Given the description of an element on the screen output the (x, y) to click on. 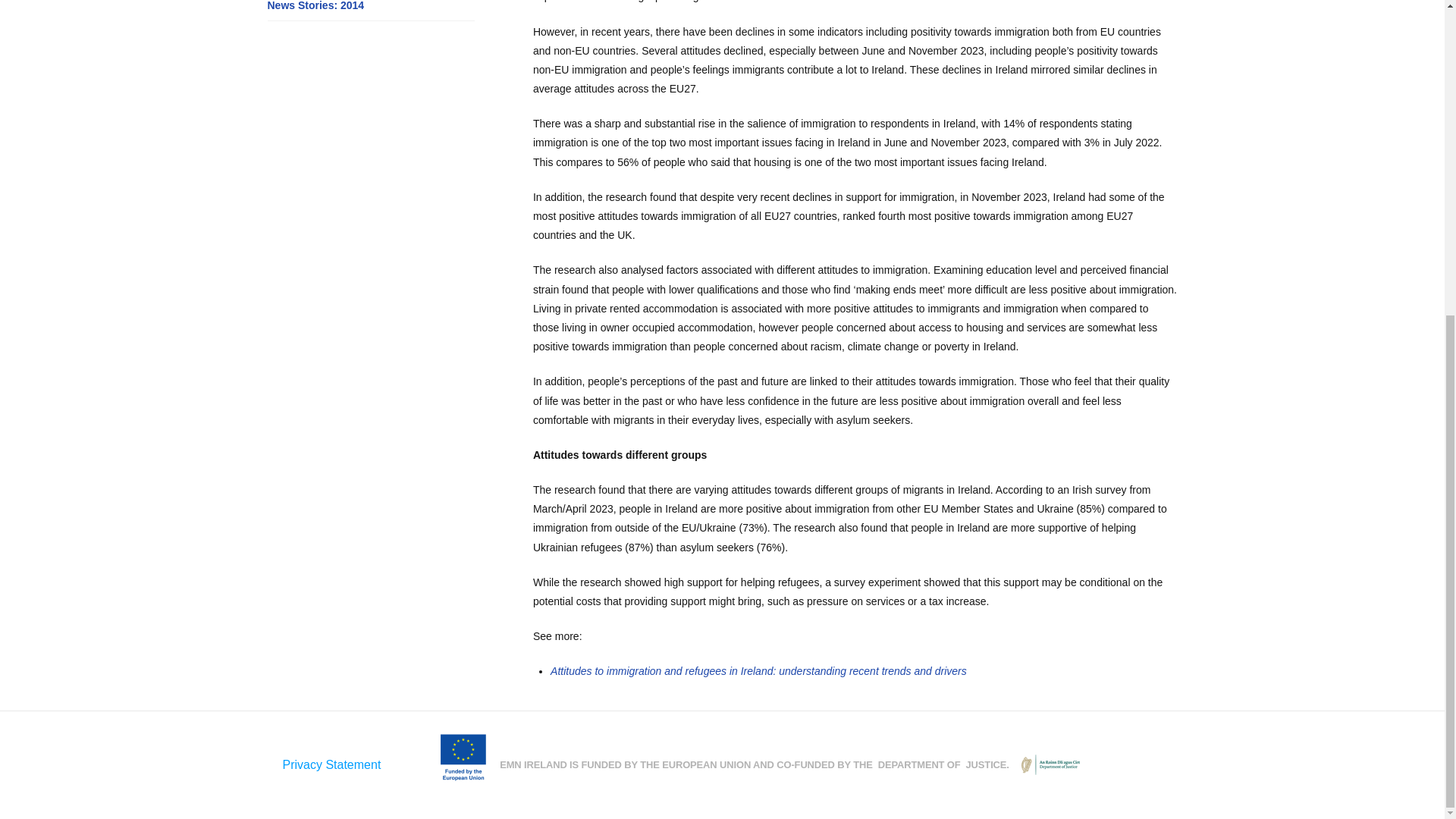
Privacy Statement (331, 764)
News Stories: 2014 (315, 6)
